Given the description of an element on the screen output the (x, y) to click on. 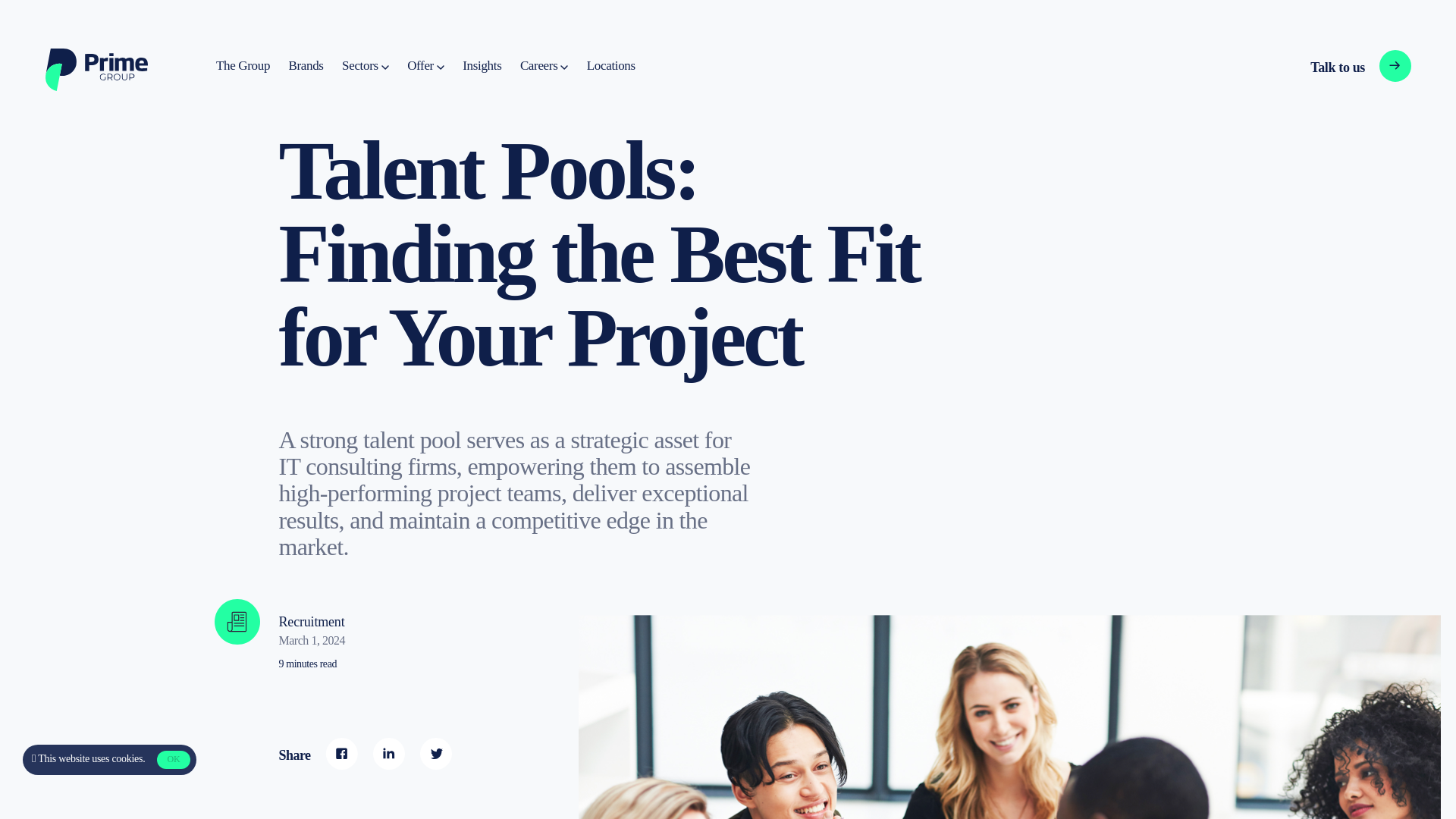
Brands (305, 66)
uses cookies. (117, 758)
Locations (610, 66)
OK (173, 760)
Careers (543, 66)
Sectors (365, 66)
Offer (425, 66)
The Group (242, 66)
Insights (481, 66)
